Given the description of an element on the screen output the (x, y) to click on. 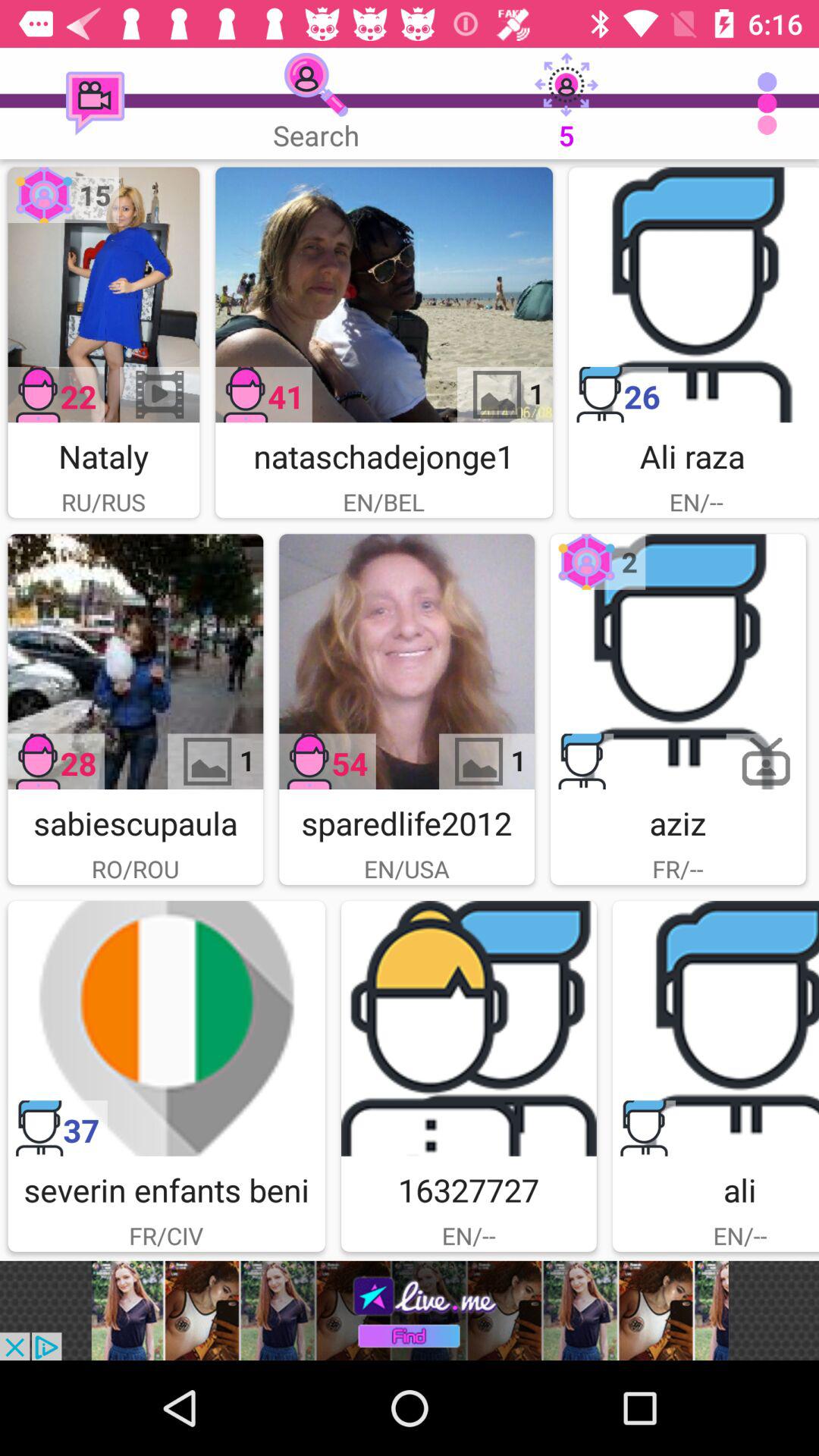
select user (715, 1028)
